Given the description of an element on the screen output the (x, y) to click on. 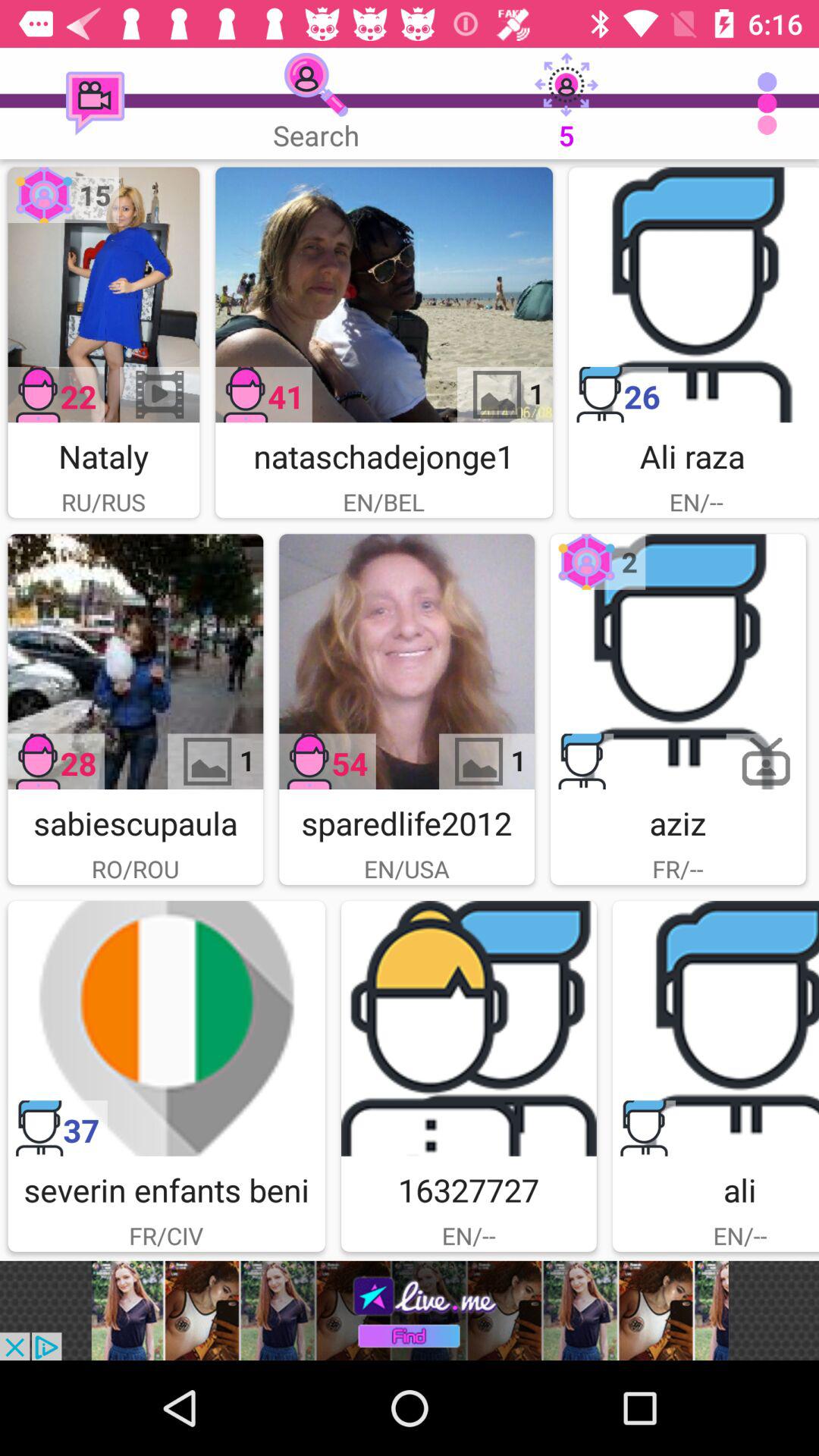
select user (715, 1028)
